Given the description of an element on the screen output the (x, y) to click on. 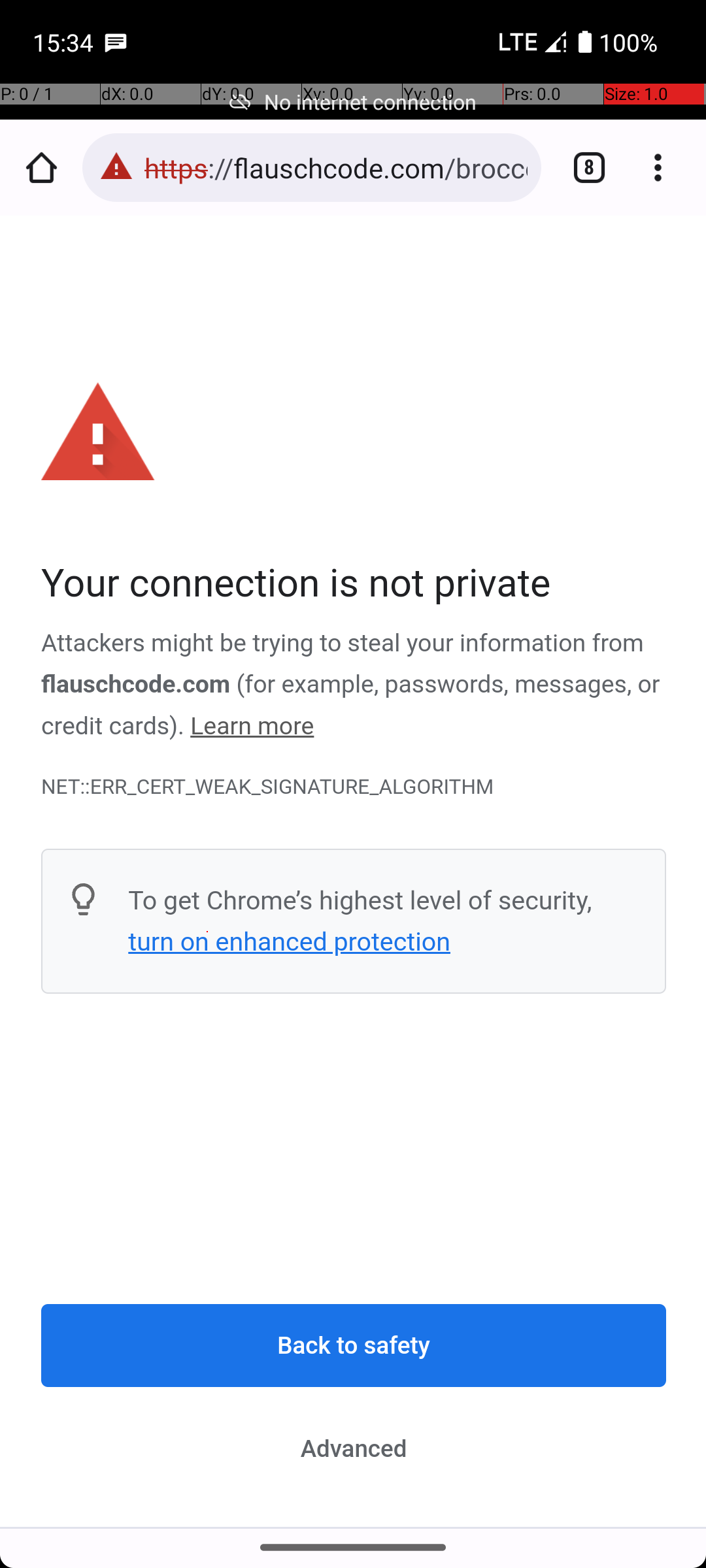
https://flauschcode.com/broccoli-privacy-policy/ Element type: android.widget.EditText (335, 167)
flauschcode.com Element type: android.widget.TextView (136, 684)
NET::ERR_CERT_WEAK_SIGNATURE_ALGORITHM Element type: android.widget.Button (354, 786)
